Given the description of an element on the screen output the (x, y) to click on. 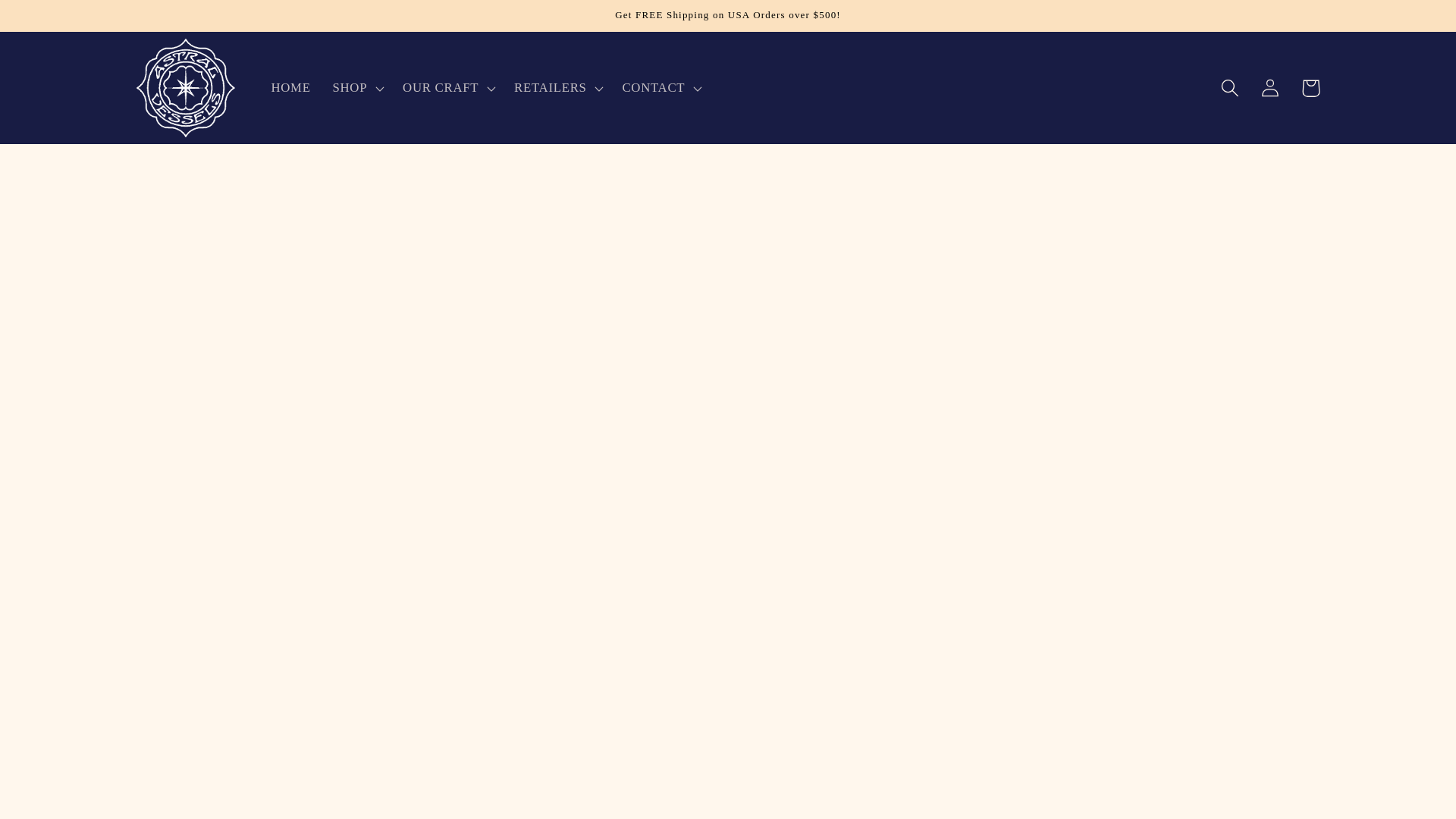
Skip to content (56, 21)
HOME (290, 87)
Log in (1270, 87)
Cart (1310, 87)
